Given the description of an element on the screen output the (x, y) to click on. 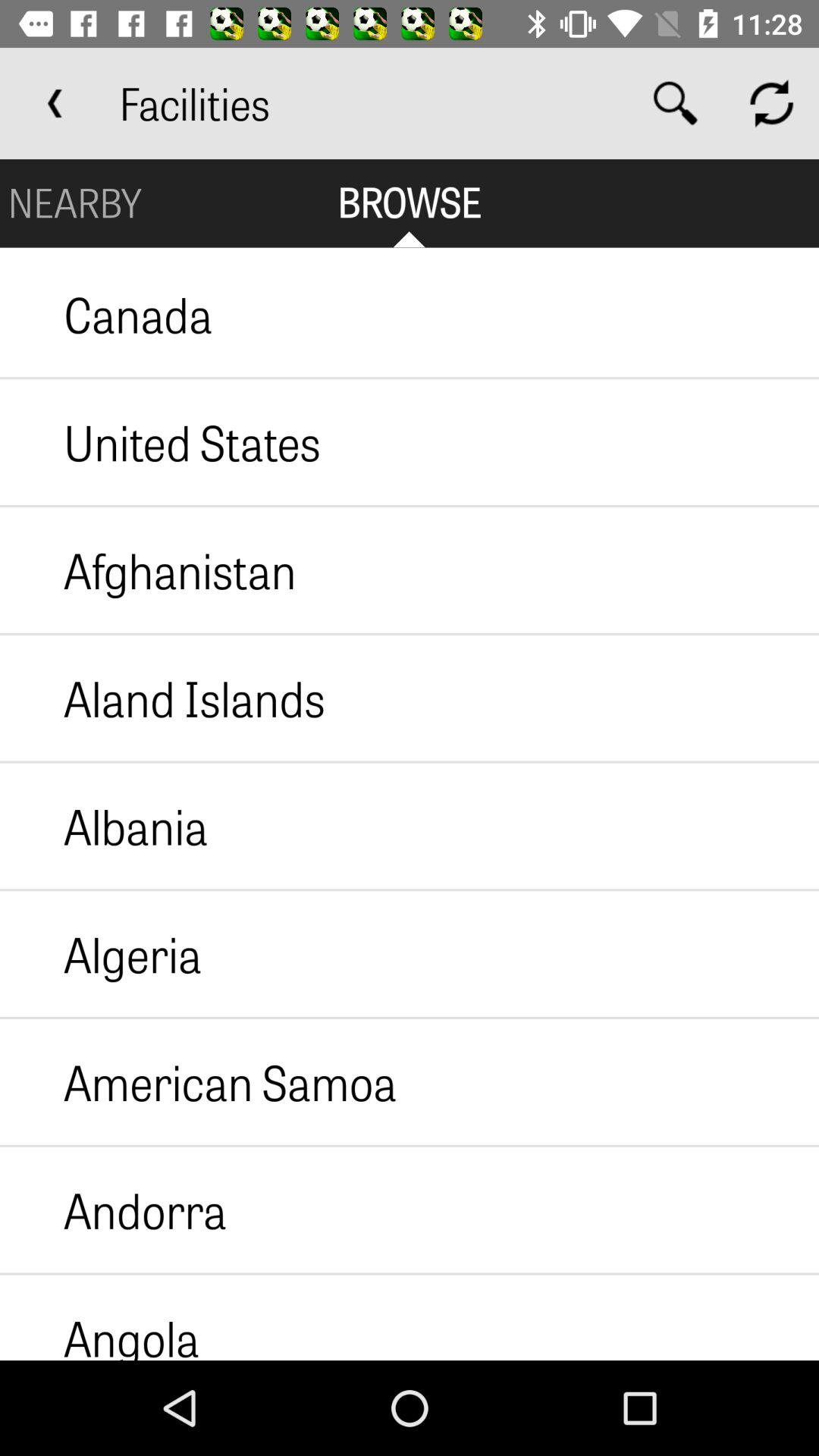
jump to the andorra item (113, 1209)
